Given the description of an element on the screen output the (x, y) to click on. 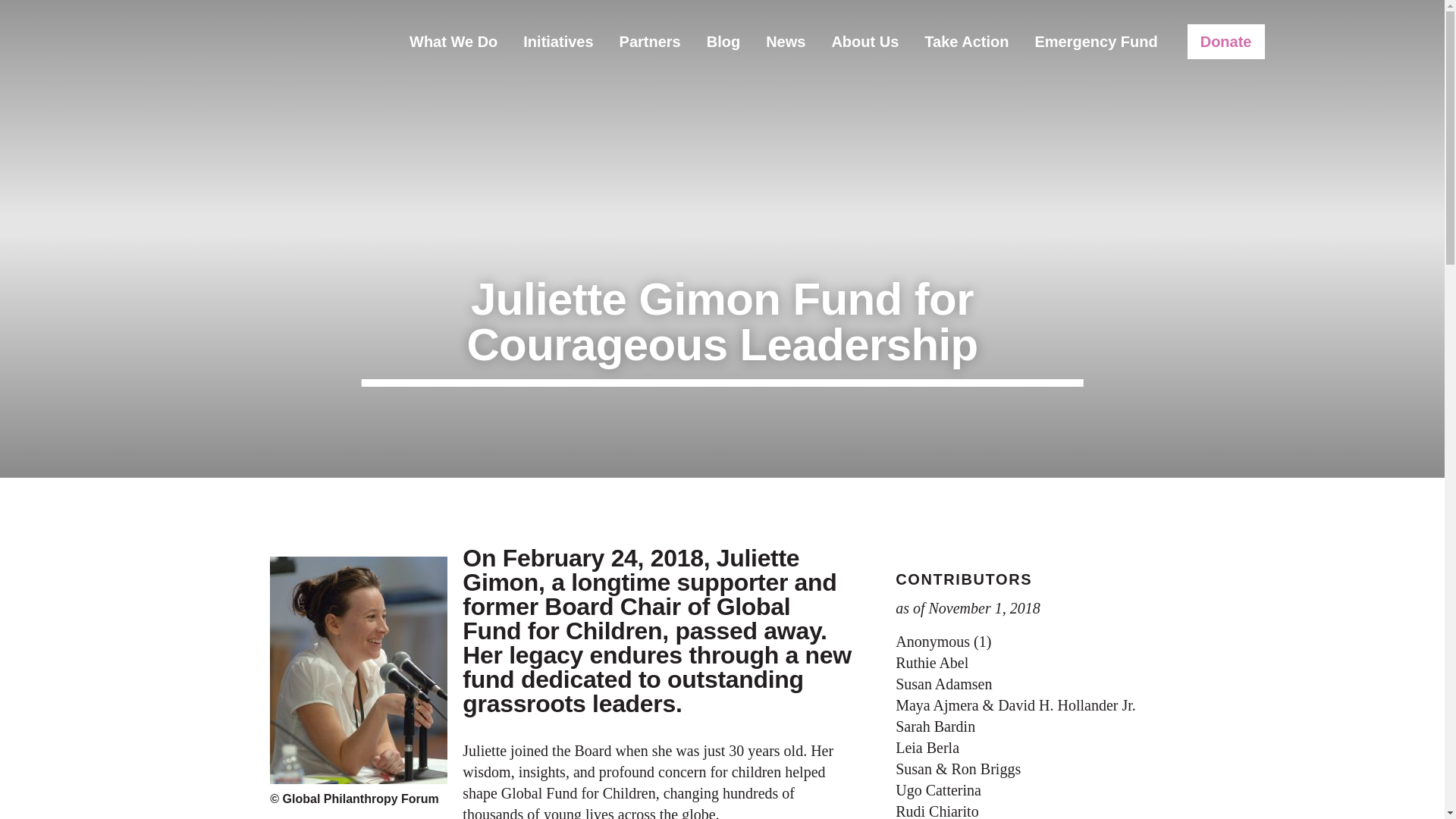
Search (1284, 40)
Donate (1226, 41)
Partners (650, 41)
About Us (864, 41)
What We Do (453, 41)
News (785, 41)
Blog (723, 41)
Initiatives (558, 41)
Take Action (966, 41)
Emergency Fund (1096, 41)
